Given the description of an element on the screen output the (x, y) to click on. 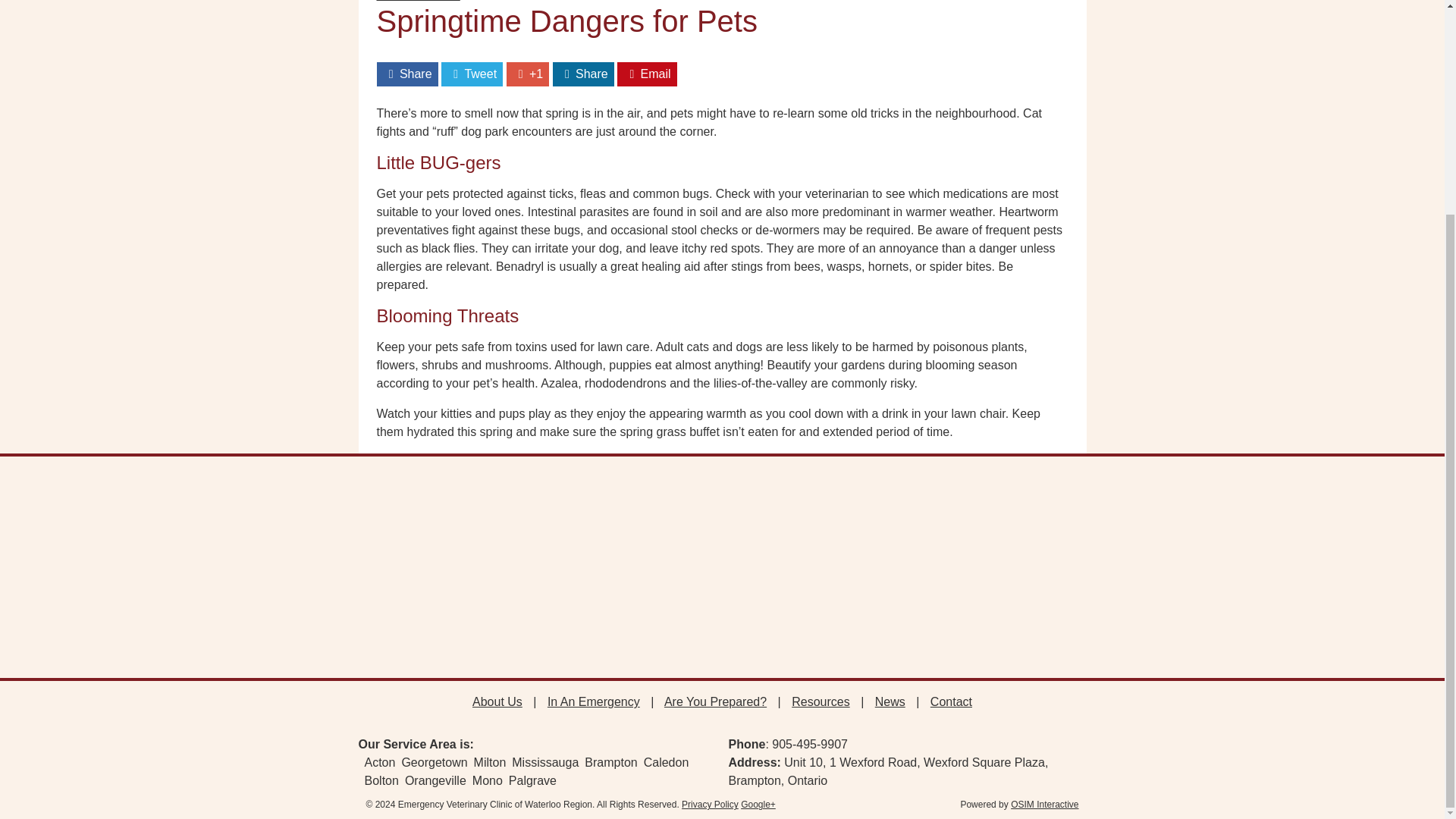
In An Emergency (593, 701)
OSIM Interactive (1044, 804)
Tweet (471, 73)
Email (646, 73)
Share (583, 73)
News (890, 701)
Privacy Policy (709, 804)
Are You Prepared? (715, 701)
Share (405, 73)
Contact (951, 701)
